Given the description of an element on the screen output the (x, y) to click on. 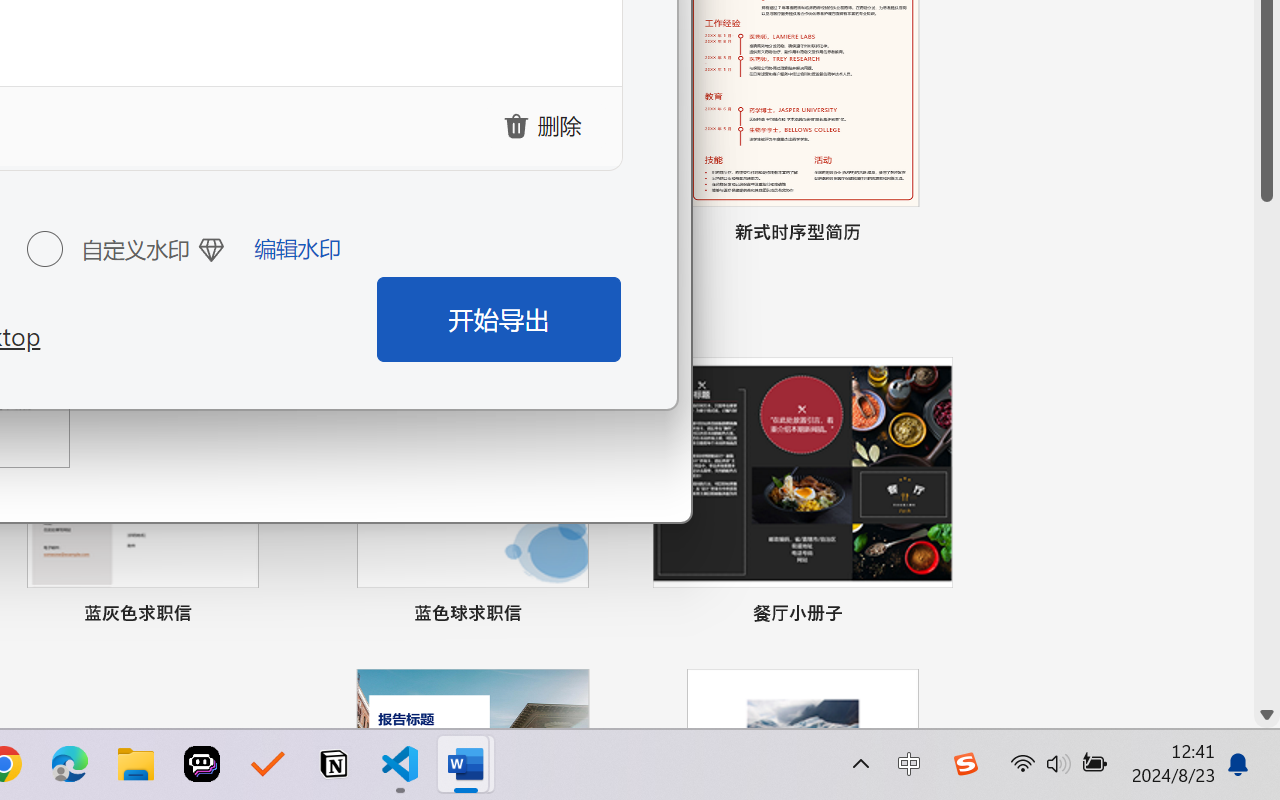
Microsoft Edge (69, 764)
Line down (1267, 715)
Pin to list (934, 616)
